Given the description of an element on the screen output the (x, y) to click on. 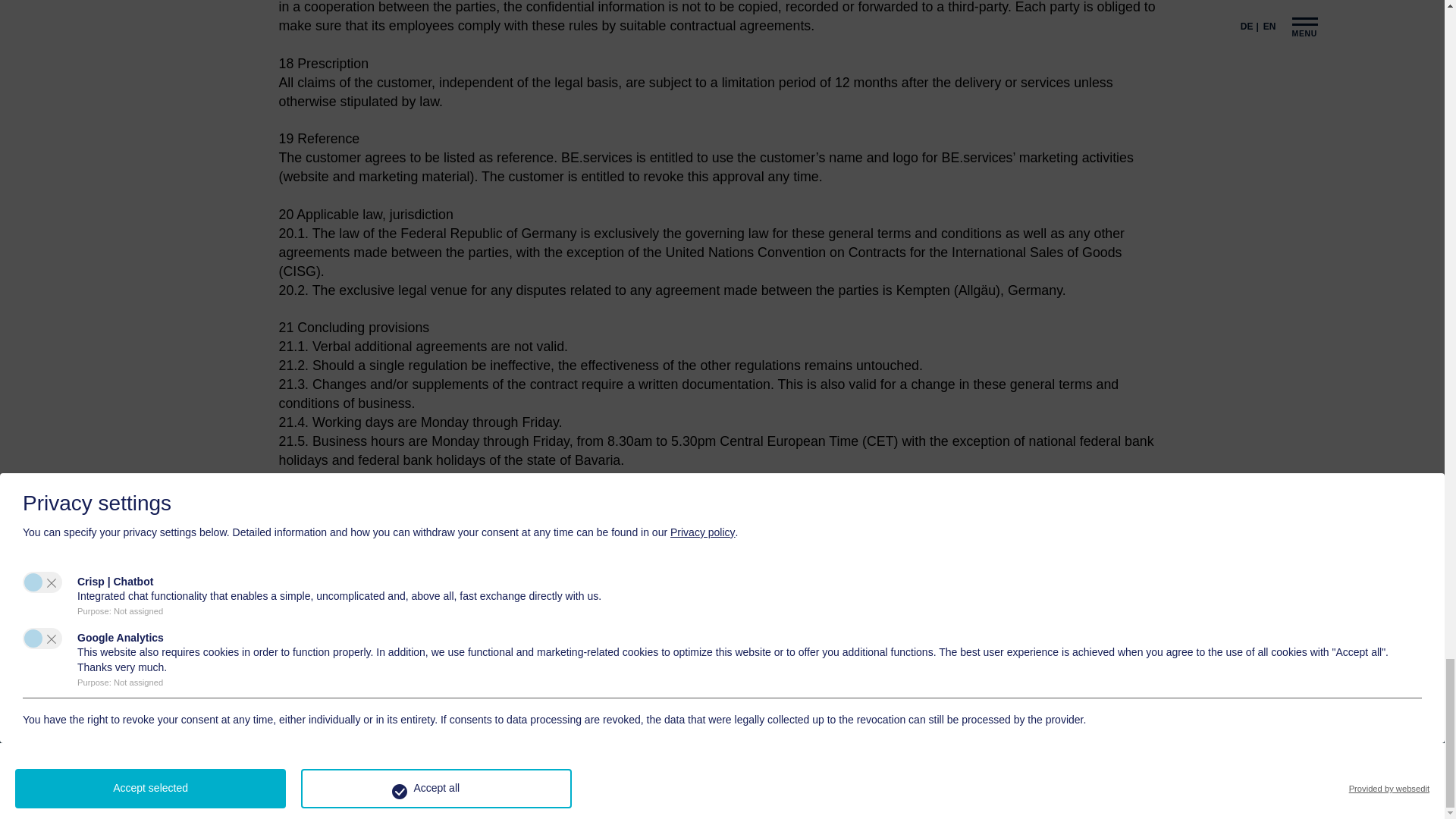
Imprint (723, 801)
BE.SERVICES (419, 702)
General Terms (665, 801)
Privacy Policy (780, 801)
Privacy Policy (780, 801)
Contact Us (722, 702)
BE.services (419, 702)
General Terms (665, 801)
CONTACT US (722, 702)
Imprint (723, 801)
